Given the description of an element on the screen output the (x, y) to click on. 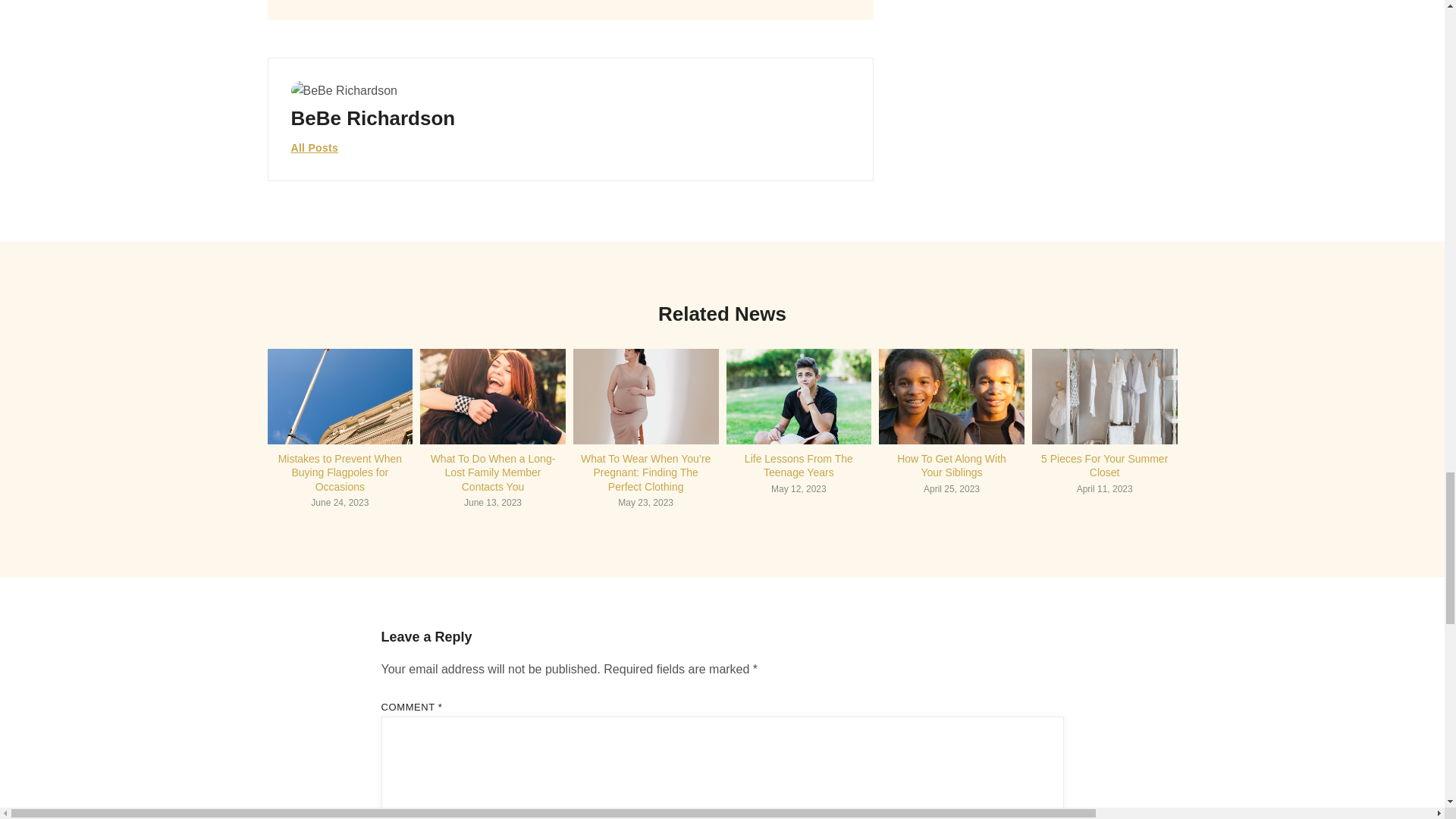
Life Lessons From The Teenage Years (798, 465)
What To Do When a Long-Lost Family Member Contacts You (493, 472)
All Posts (315, 148)
Mistakes to Prevent When Buying Flagpoles for Occasions (339, 472)
How To Get Along With Your Siblings (951, 465)
5 Pieces For Your Summer Closet (1104, 465)
